Given the description of an element on the screen output the (x, y) to click on. 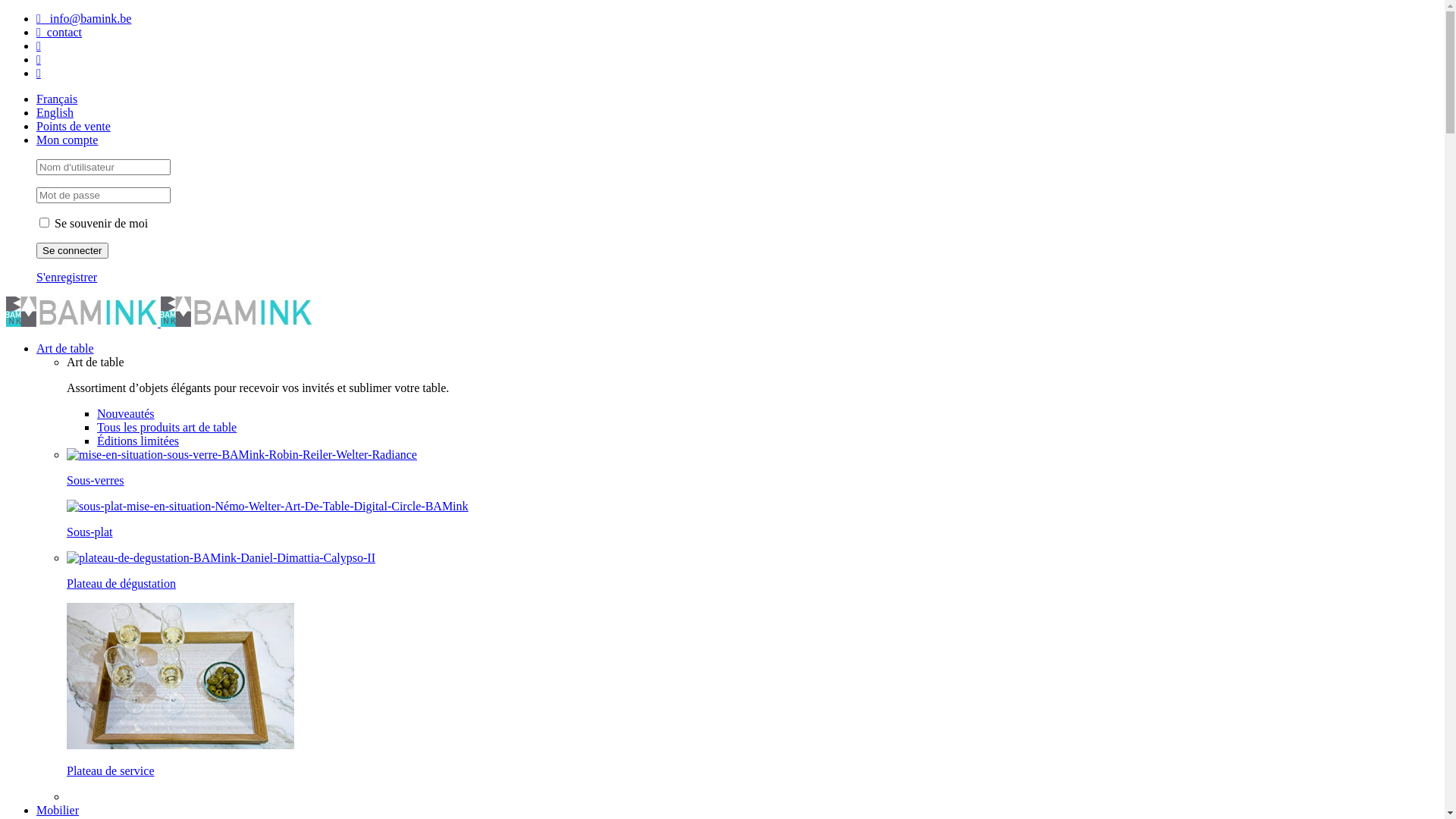
English Element type: text (54, 112)
Tous les produits art de table Element type: text (166, 426)
Passer au contenu Element type: text (5, 11)
Sous-plat Element type: text (89, 531)
Mon compte Element type: text (66, 139)
Sous-verres Element type: text (95, 479)
   info@bamink.be Element type: text (83, 18)
Se connecter Element type: text (72, 250)
S'enregistrer Element type: text (66, 276)
Mobilier Element type: text (57, 809)
Art de table Element type: text (65, 348)
  contact Element type: text (58, 31)
Points de vente Element type: text (73, 125)
Plateau de service Element type: text (110, 770)
